Given the description of an element on the screen output the (x, y) to click on. 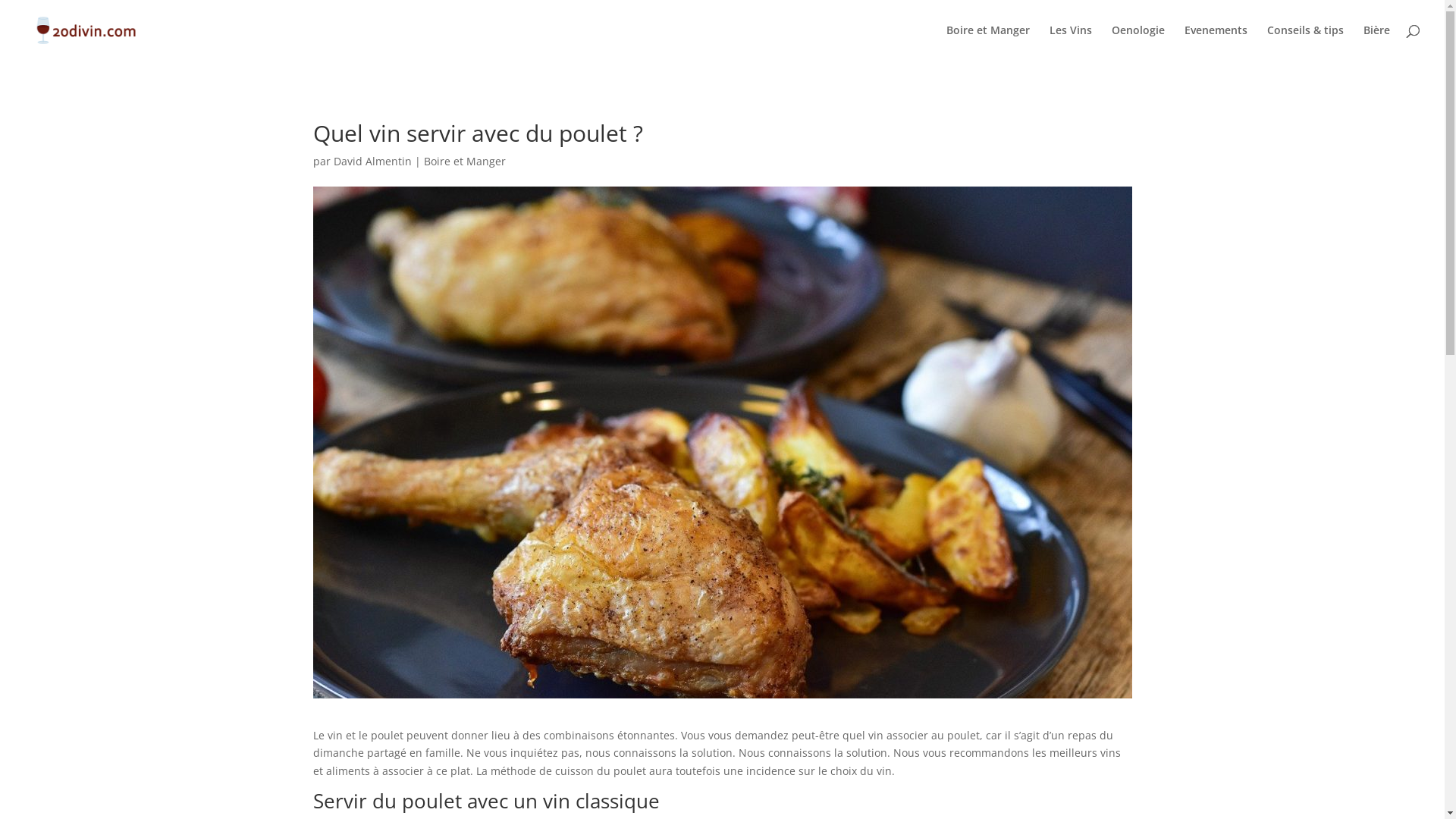
Boire et Manger Element type: text (464, 160)
Conseils & tips Element type: text (1305, 42)
Evenements Element type: text (1215, 42)
Boire et Manger Element type: text (987, 42)
Oenologie Element type: text (1137, 42)
Les Vins Element type: text (1070, 42)
David Almentin Element type: text (372, 160)
